Given the description of an element on the screen output the (x, y) to click on. 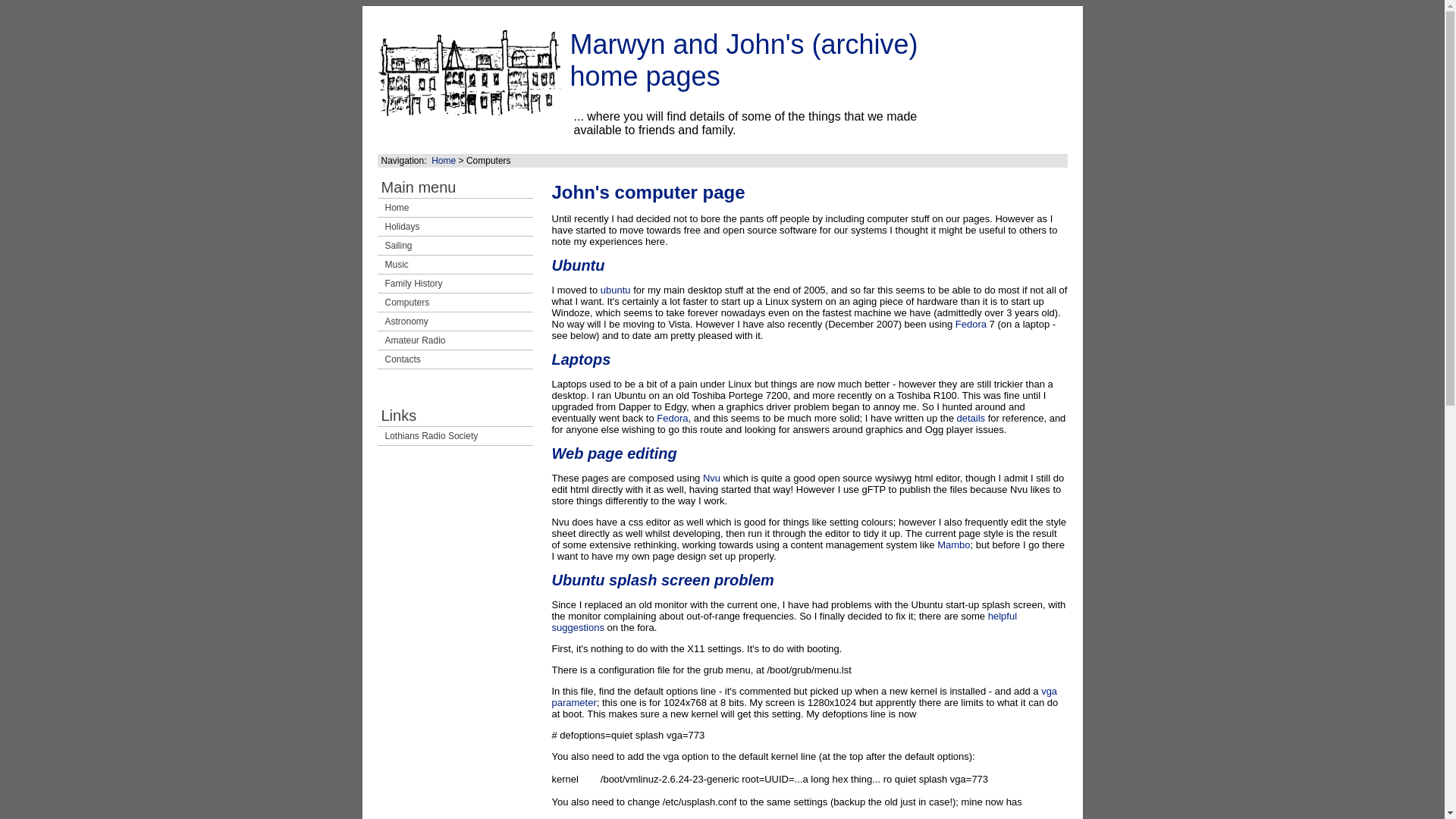
Lothians Radio Society (454, 435)
Amateur Radio (454, 340)
Computers (454, 302)
vga parameter (804, 696)
helpful suggestions (784, 621)
details (970, 418)
Fedora (971, 324)
Home (442, 160)
Music (454, 264)
Contacts (454, 359)
Holidays (454, 226)
Fedora (671, 418)
Nvu (711, 478)
Mambo (953, 544)
ubuntu (614, 289)
